Given the description of an element on the screen output the (x, y) to click on. 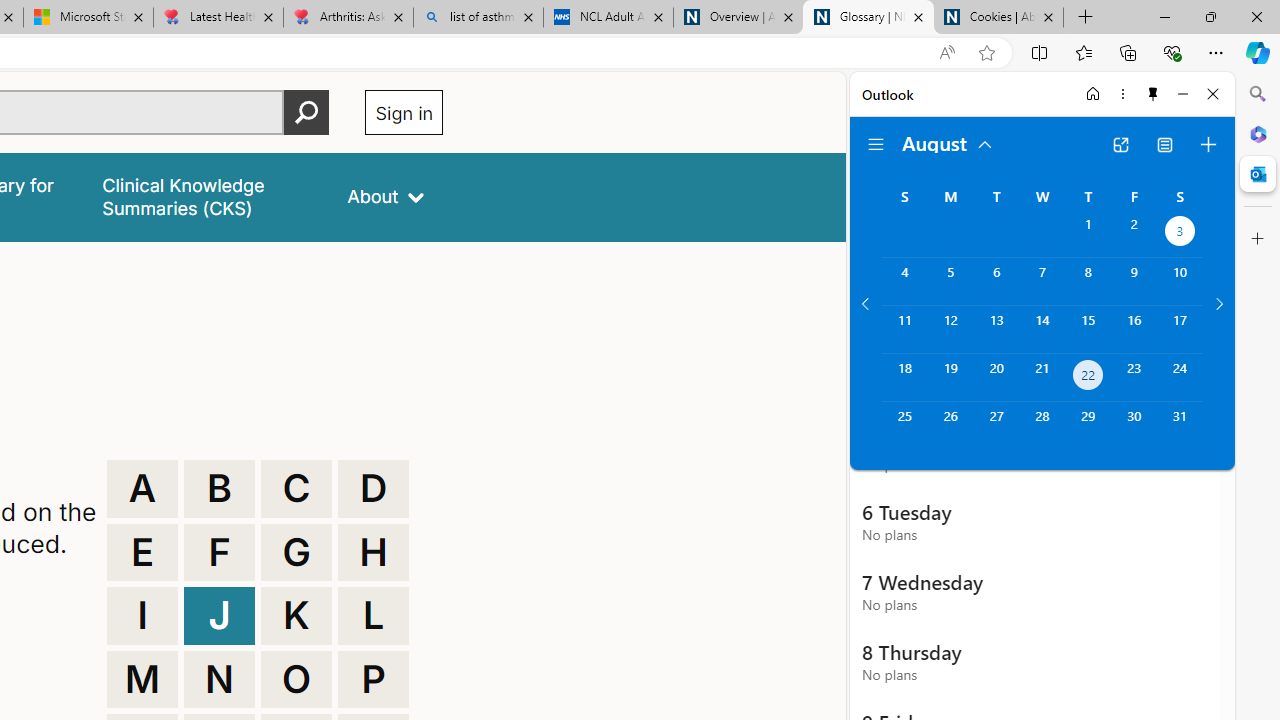
Tuesday, August 6, 2024.  (996, 281)
M (142, 679)
Close Customize pane (1258, 239)
Thursday, August 1, 2024.  (1088, 233)
D (373, 488)
Wednesday, August 21, 2024.  (1042, 377)
Friday, August 23, 2024.  (1134, 377)
list of asthma inhalers uk - Search (477, 17)
Sunday, August 25, 2024.  (904, 425)
I (142, 615)
About (386, 196)
M (142, 679)
false (207, 196)
